Given the description of an element on the screen output the (x, y) to click on. 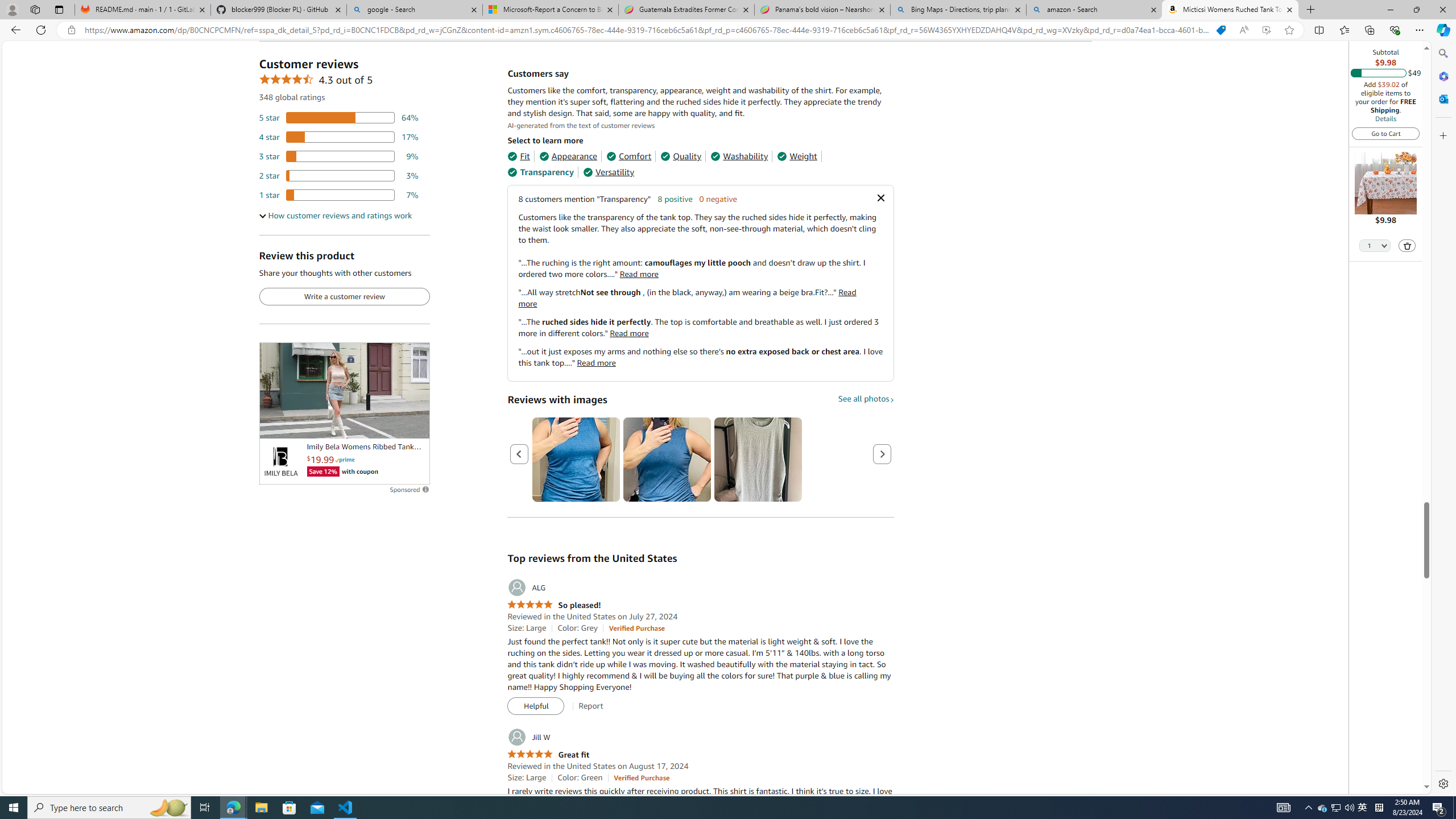
9 percent of reviews have 3 stars (339, 156)
64 percent of reviews have 5 stars (339, 117)
5.0 out of 5 stars Great fit (547, 754)
Logo (280, 461)
Sponsored ad (344, 390)
